Given the description of an element on the screen output the (x, y) to click on. 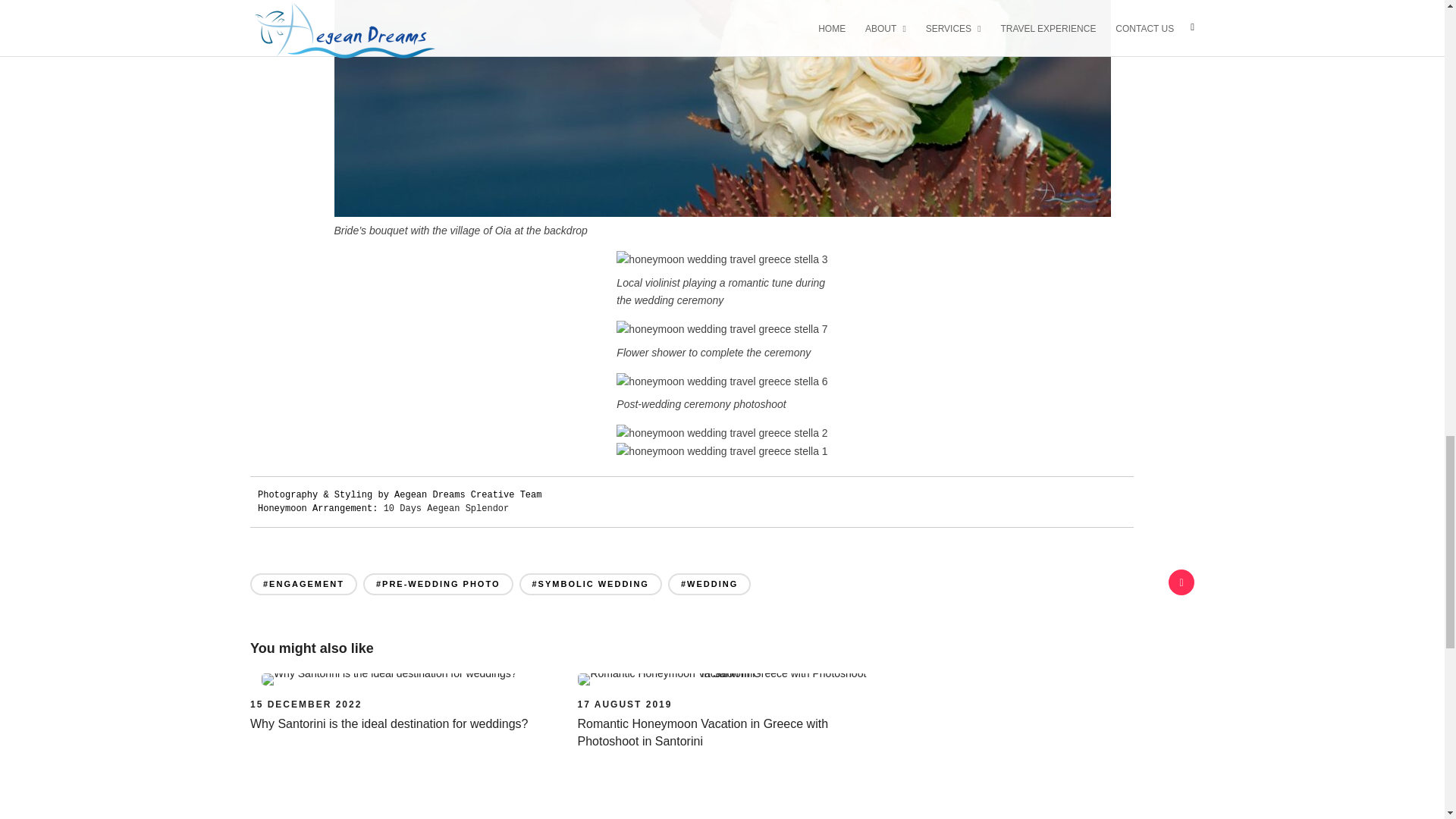
Why Santorini is the ideal destination for weddings? (388, 723)
Why Santorini is the ideal destination for weddings? (305, 704)
10 Days Aegean Splendor Greece Travel  (446, 508)
